Given the description of an element on the screen output the (x, y) to click on. 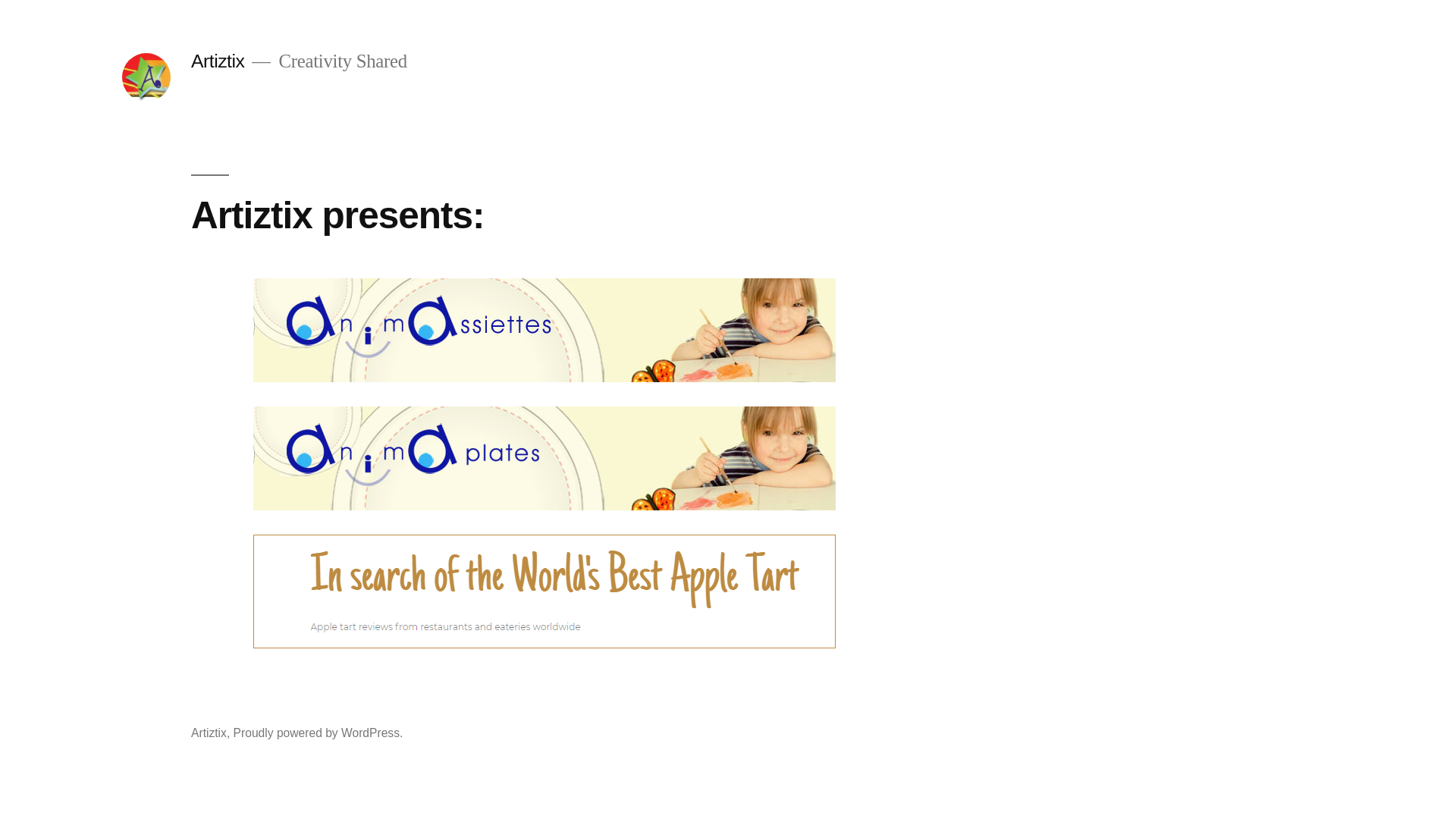
Proudly powered by WordPress. Element type: text (318, 732)
Artiztix Element type: text (208, 732)
Artiztix Element type: text (217, 60)
